Given the description of an element on the screen output the (x, y) to click on. 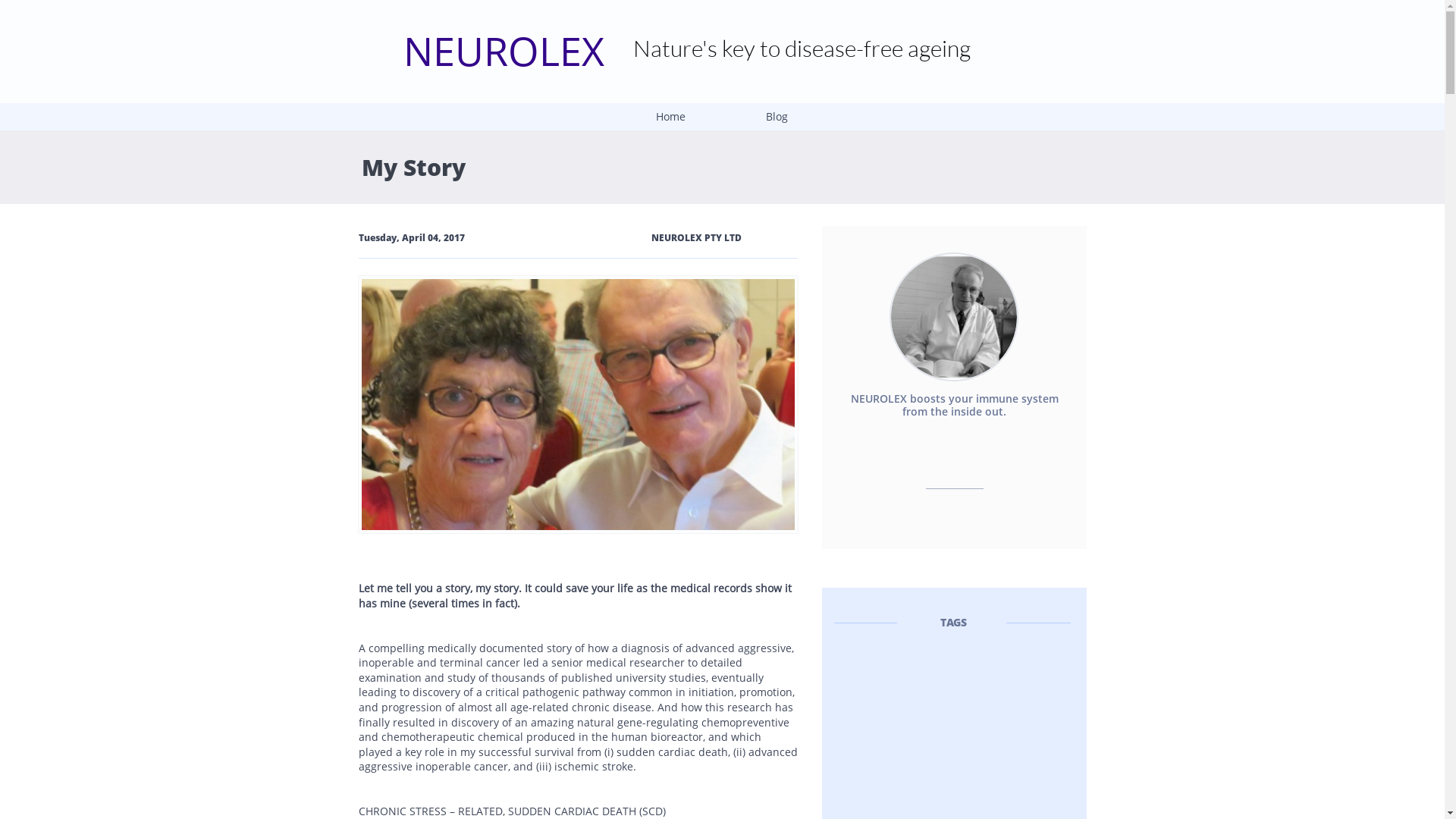
Blog Element type: text (776, 116)
Home Element type: text (669, 116)
